Given the description of an element on the screen output the (x, y) to click on. 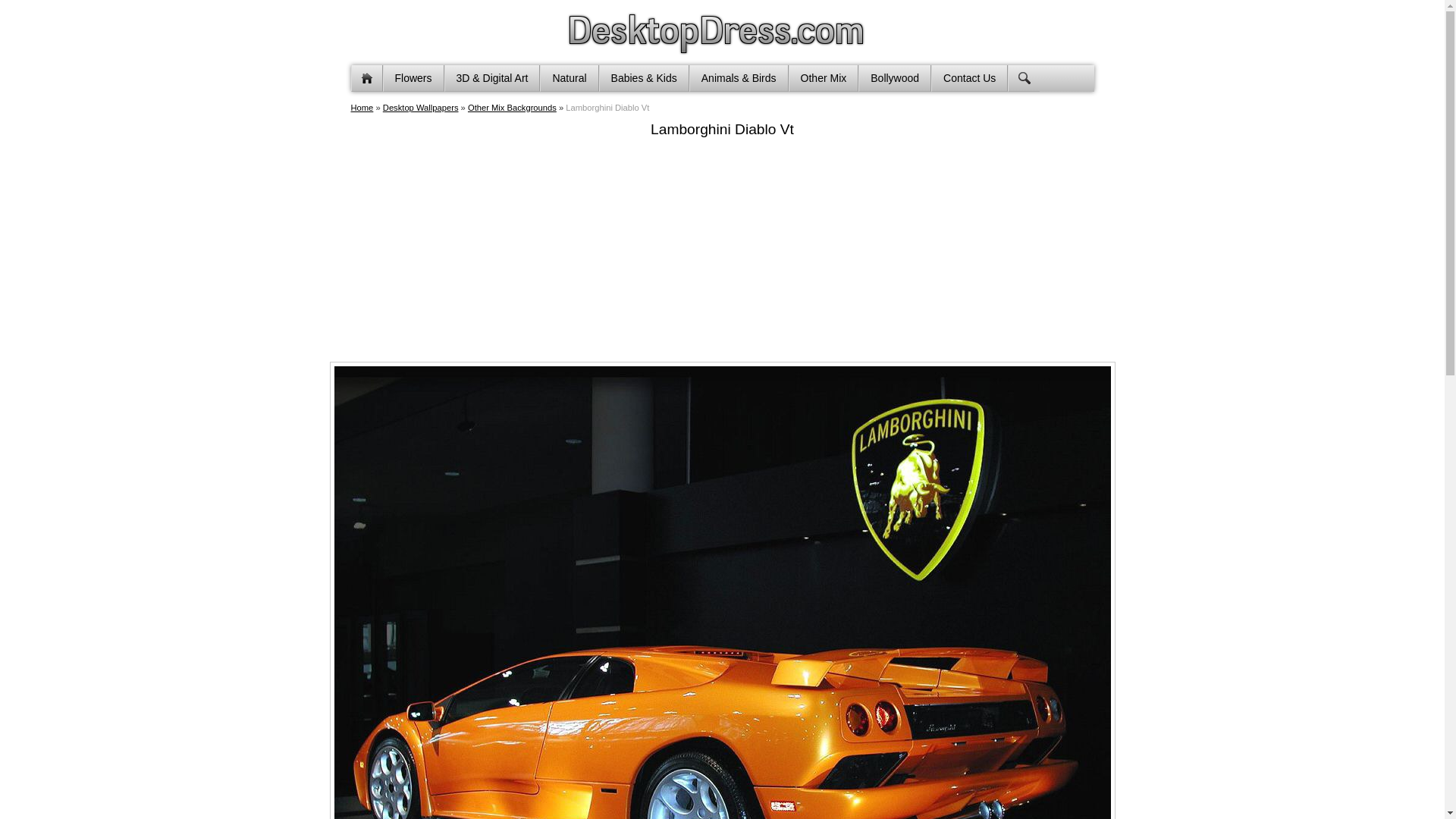
Other Mix Wallpapers (511, 107)
Contact Us (969, 78)
Bollywood (895, 78)
Other Mix (824, 78)
Flowers (412, 78)
Home (365, 78)
Desktop Wallpapers (420, 107)
Natural (569, 78)
Desktop Wallpapers (420, 107)
Home (361, 107)
Search (1023, 78)
Other Mix Backgrounds (511, 107)
